Given the description of an element on the screen output the (x, y) to click on. 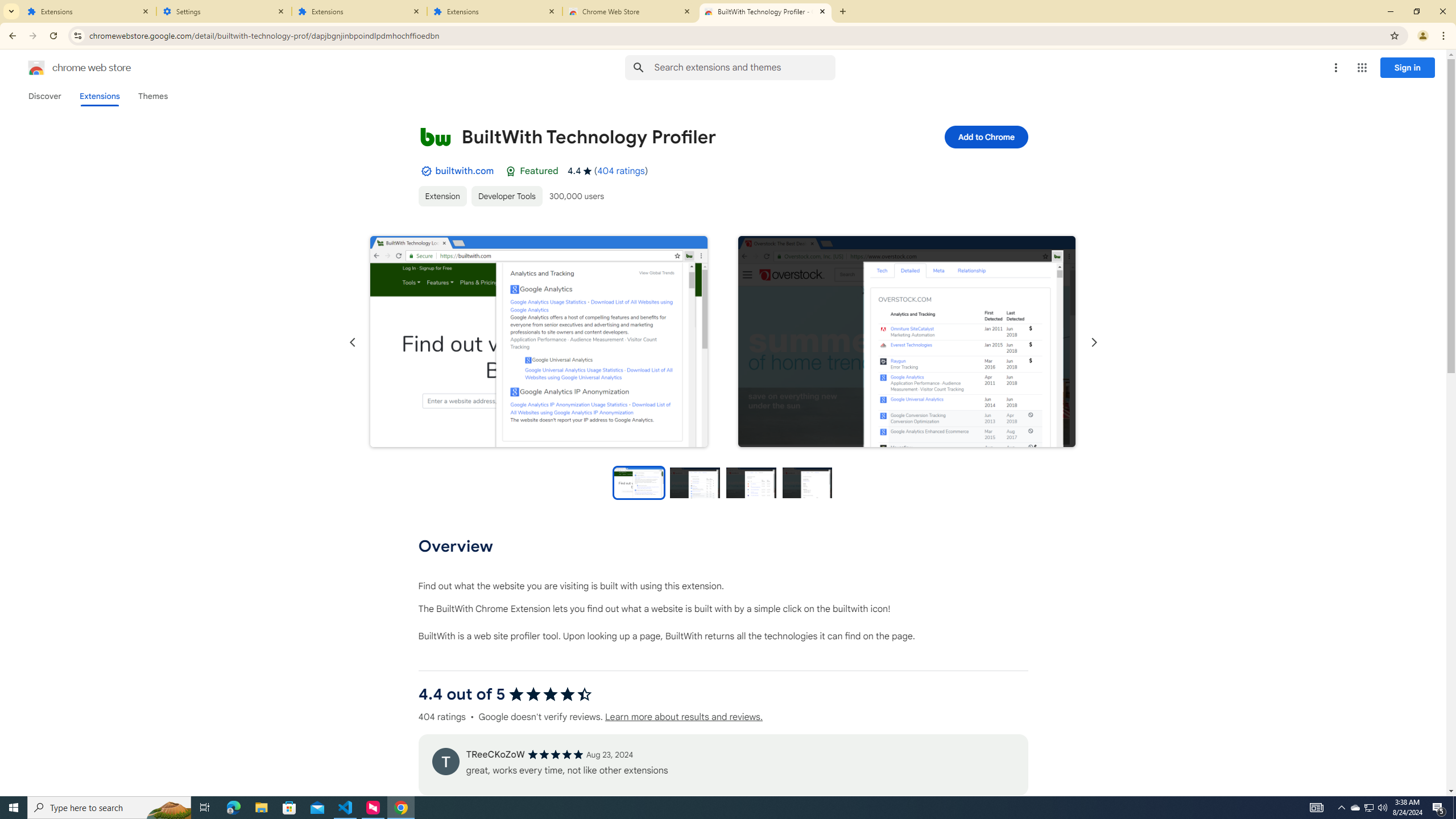
Previous slide (352, 342)
Chrome Web Store (630, 11)
Discover (43, 95)
5 out of 5 stars (555, 753)
Preview slide 3 (751, 482)
Developer Tools (506, 195)
Featured Badge (510, 170)
4.4 out of 5 stars (549, 693)
Extensions (494, 11)
